Given the description of an element on the screen output the (x, y) to click on. 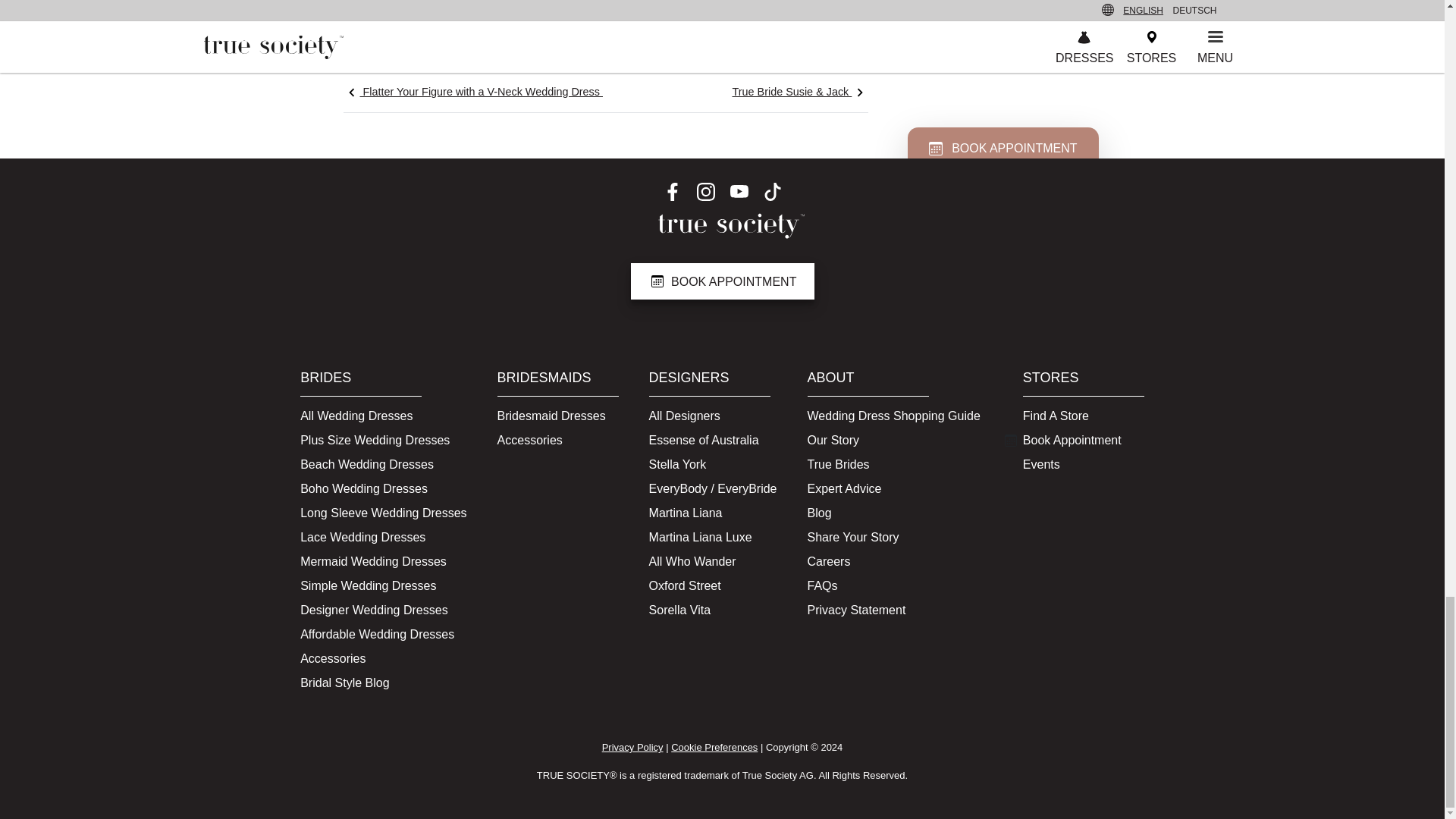
Follow True Society on Facebook (671, 191)
Follow True Society on Instagram (704, 191)
Follow True Society on YouTube (738, 191)
Follow True Society on TikTok (771, 191)
